Given the description of an element on the screen output the (x, y) to click on. 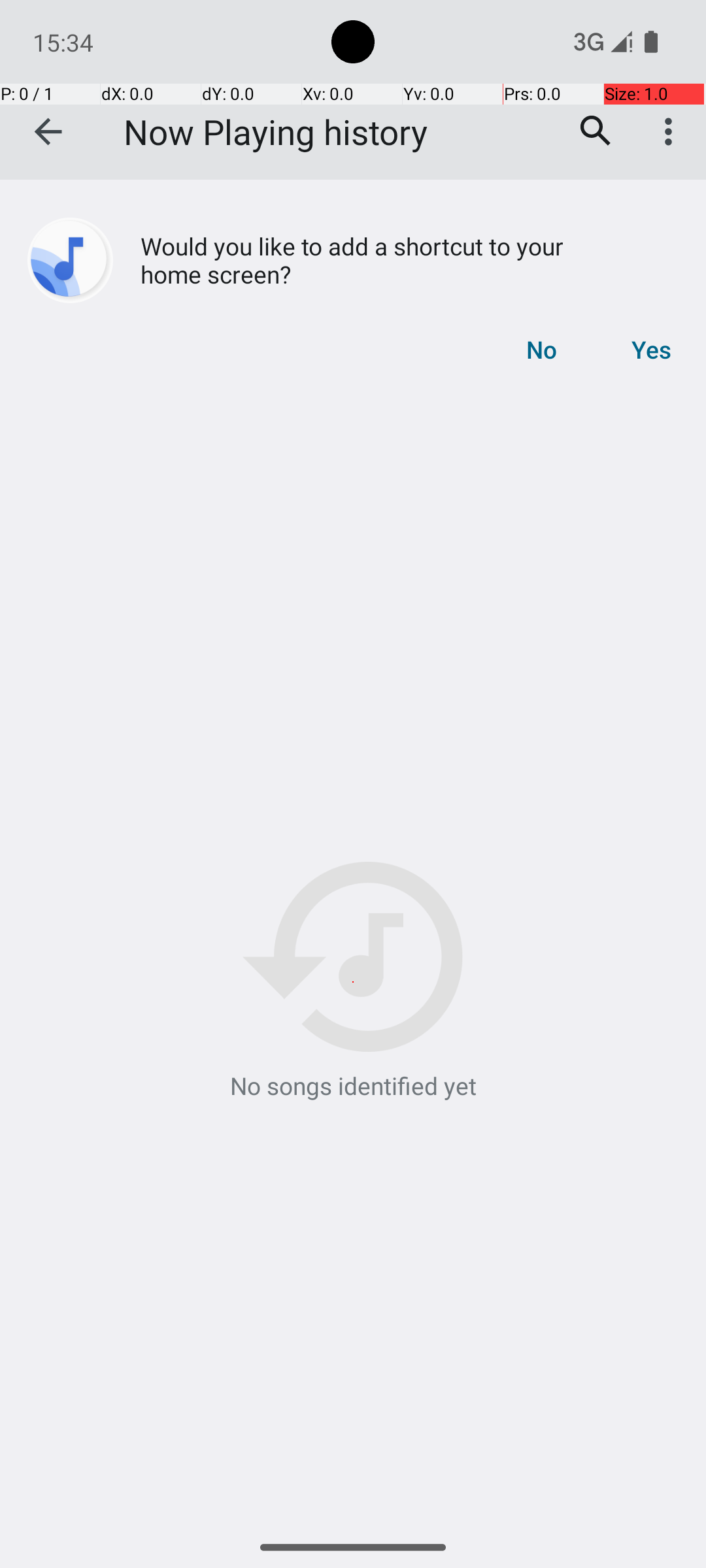
Now Playing history Element type: android.widget.TextView (275, 131)
Would you like to add a shortcut to your home screen? Element type: android.widget.TextView (302, 260)
No Element type: android.widget.Button (541, 349)
Yes Element type: android.widget.Button (651, 349)
No songs identified yet Element type: android.widget.TextView (353, 981)
